Given the description of an element on the screen output the (x, y) to click on. 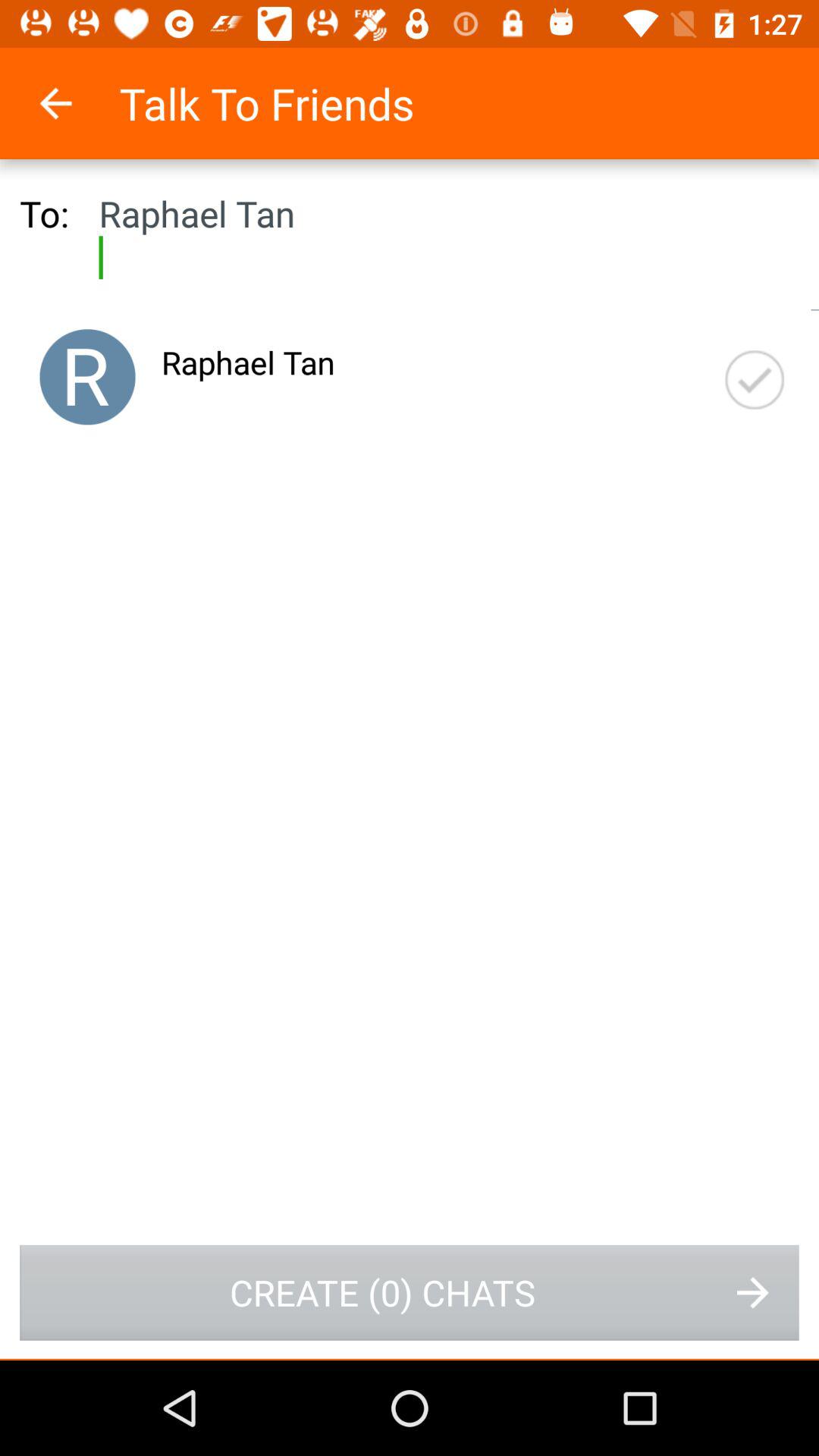
choose create (0) chats icon (409, 1292)
